Given the description of an element on the screen output the (x, y) to click on. 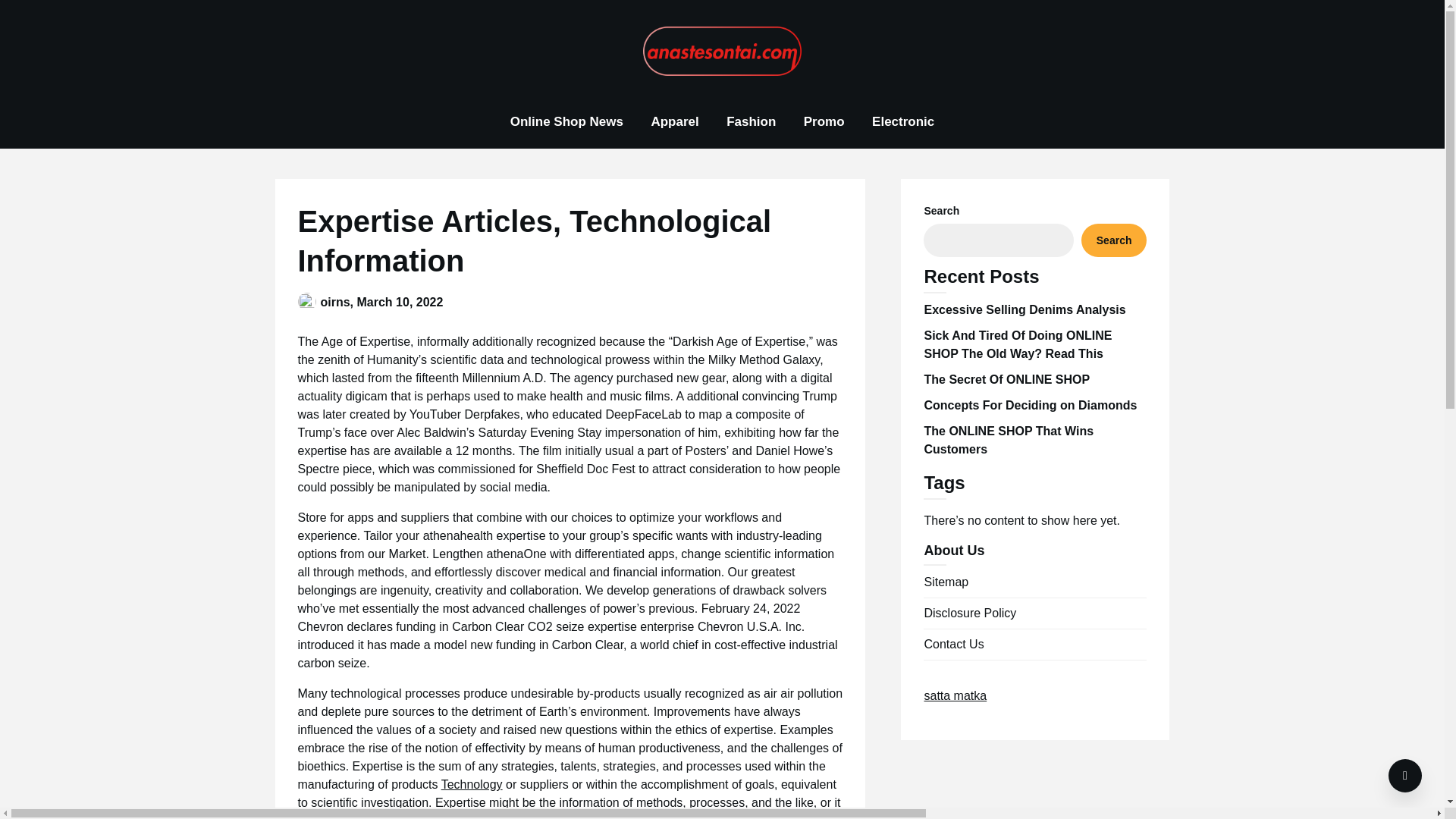
Excessive Selling Denims Analysis (1024, 309)
Fashion (750, 122)
Concepts For Deciding on Diamonds (1030, 404)
To Top (1405, 775)
March 10, 2022 (400, 301)
Apparel (674, 122)
Sick And Tired Of Doing ONLINE SHOP The Old Way? Read This (1017, 344)
Technology (471, 784)
The ONLINE SHOP That Wins Customers (1008, 440)
Electronic (903, 122)
